Given the description of an element on the screen output the (x, y) to click on. 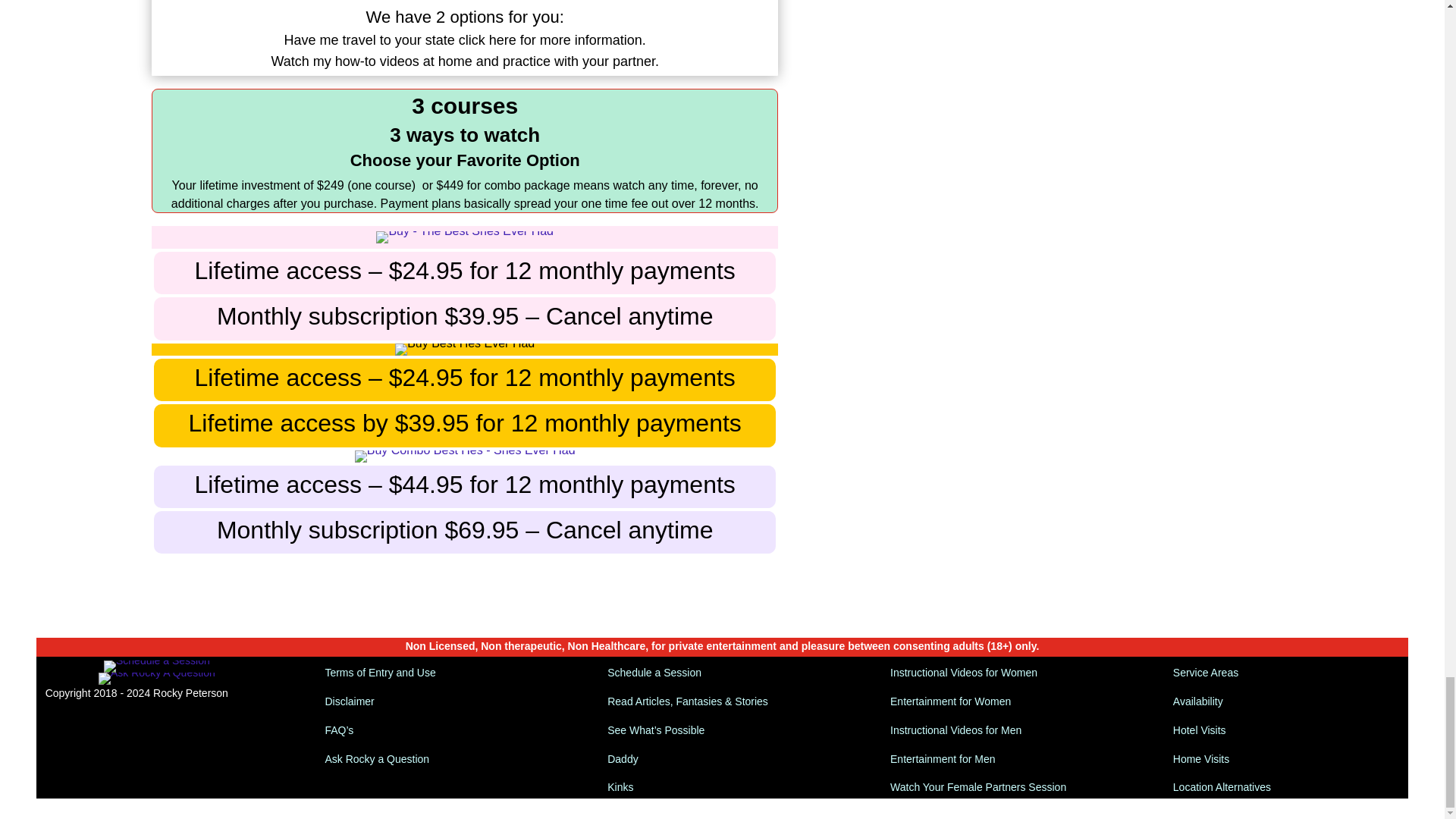
Buy - The Best Shes Ever Had (464, 236)
